Given the description of an element on the screen output the (x, y) to click on. 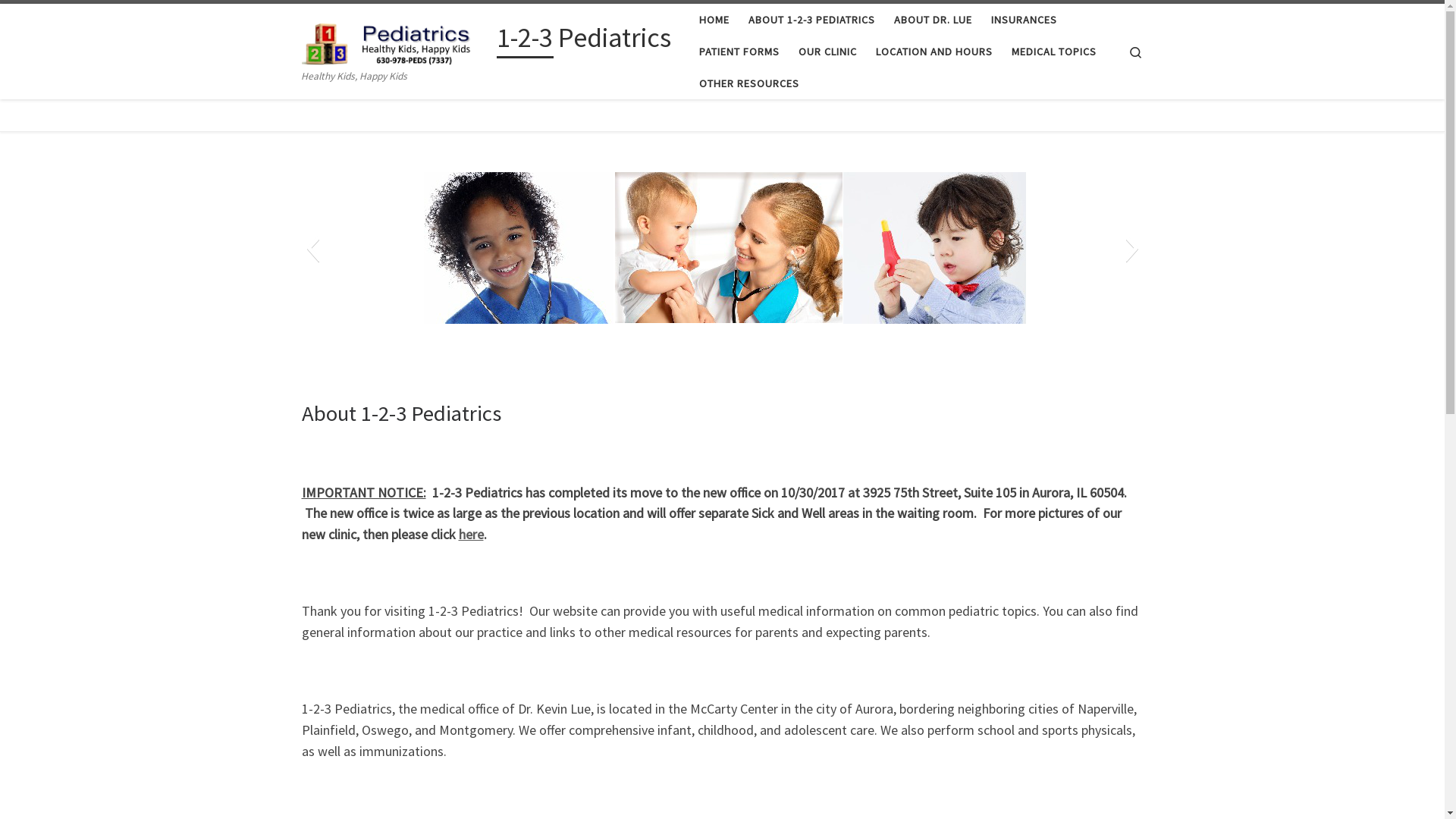
INSURANCES Element type: text (1023, 19)
MEDICAL TOPICS Element type: text (1053, 51)
here Element type: text (470, 533)
Skip to content Element type: text (57, 21)
Search Element type: text (1135, 51)
ABOUT DR. LUE Element type: text (932, 19)
1-2-3 Pediatrics Element type: text (582, 41)
LOCATION AND HOURS Element type: text (933, 51)
OTHER RESOURCES Element type: text (748, 83)
HOME Element type: text (713, 19)
OUR CLINIC Element type: text (827, 51)
PATIENT FORMS Element type: text (738, 51)
ABOUT 1-2-3 PEDIATRICS Element type: text (811, 19)
